Given the description of an element on the screen output the (x, y) to click on. 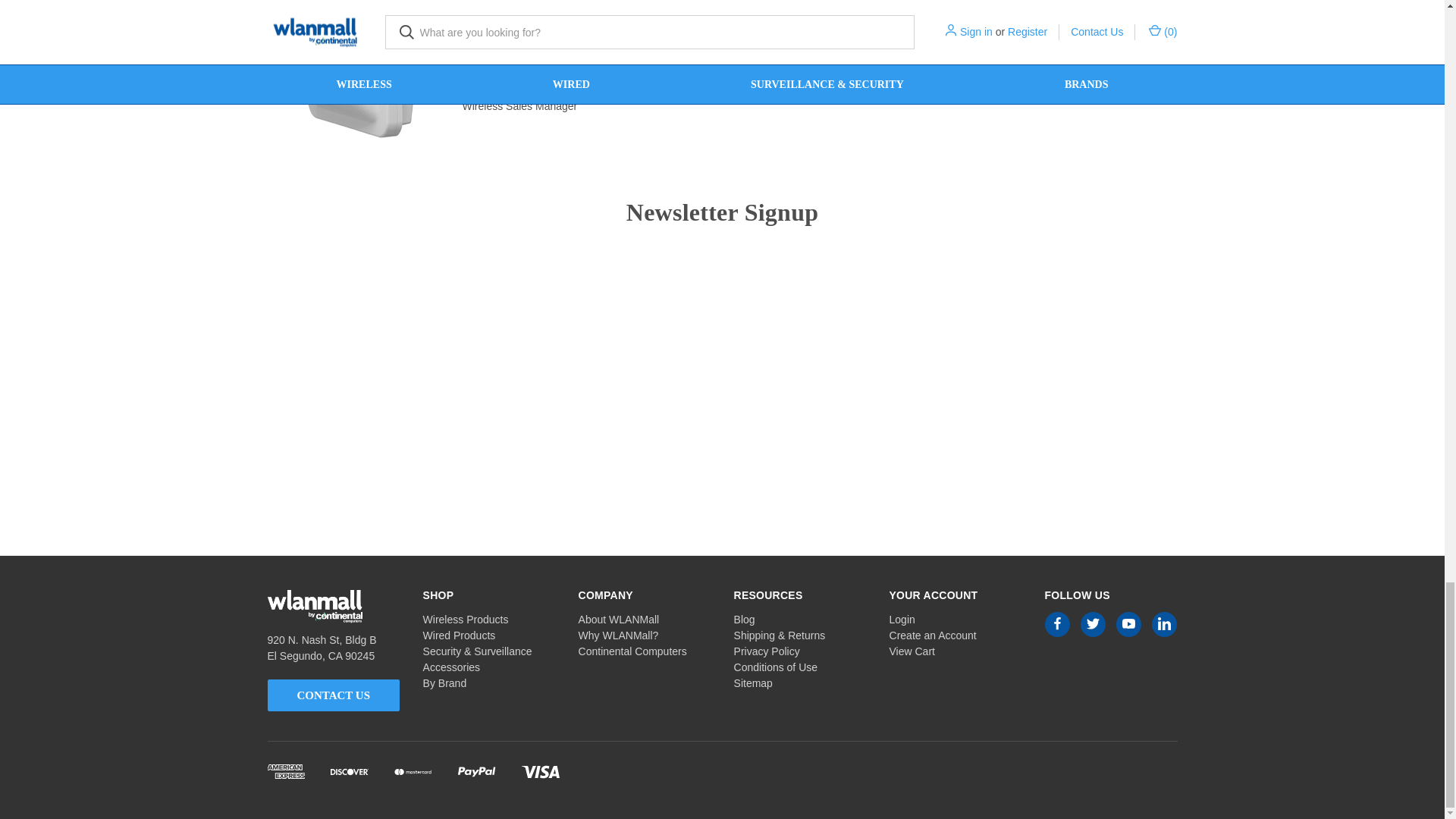
zf7731-sm.jpeg (360, 72)
WLANMall (313, 606)
